Given the description of an element on the screen output the (x, y) to click on. 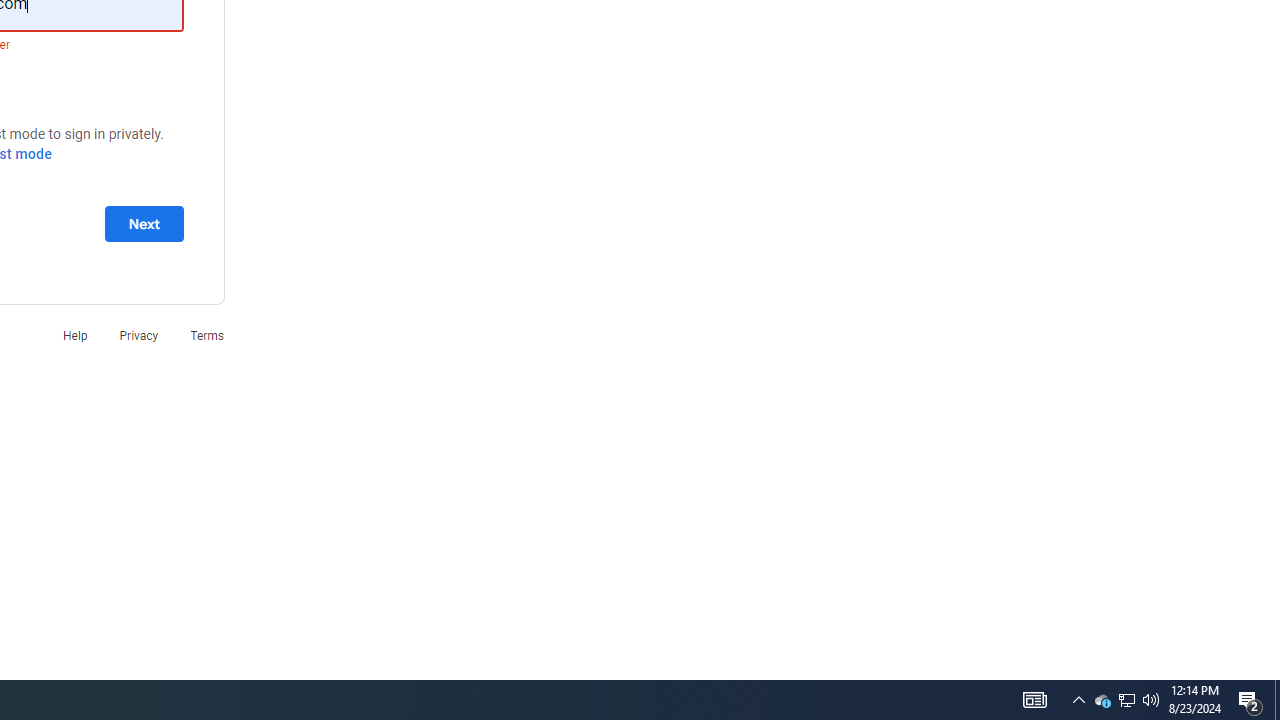
Terms (207, 335)
Help (74, 335)
Next (143, 223)
Privacy (138, 335)
